Given the description of an element on the screen output the (x, y) to click on. 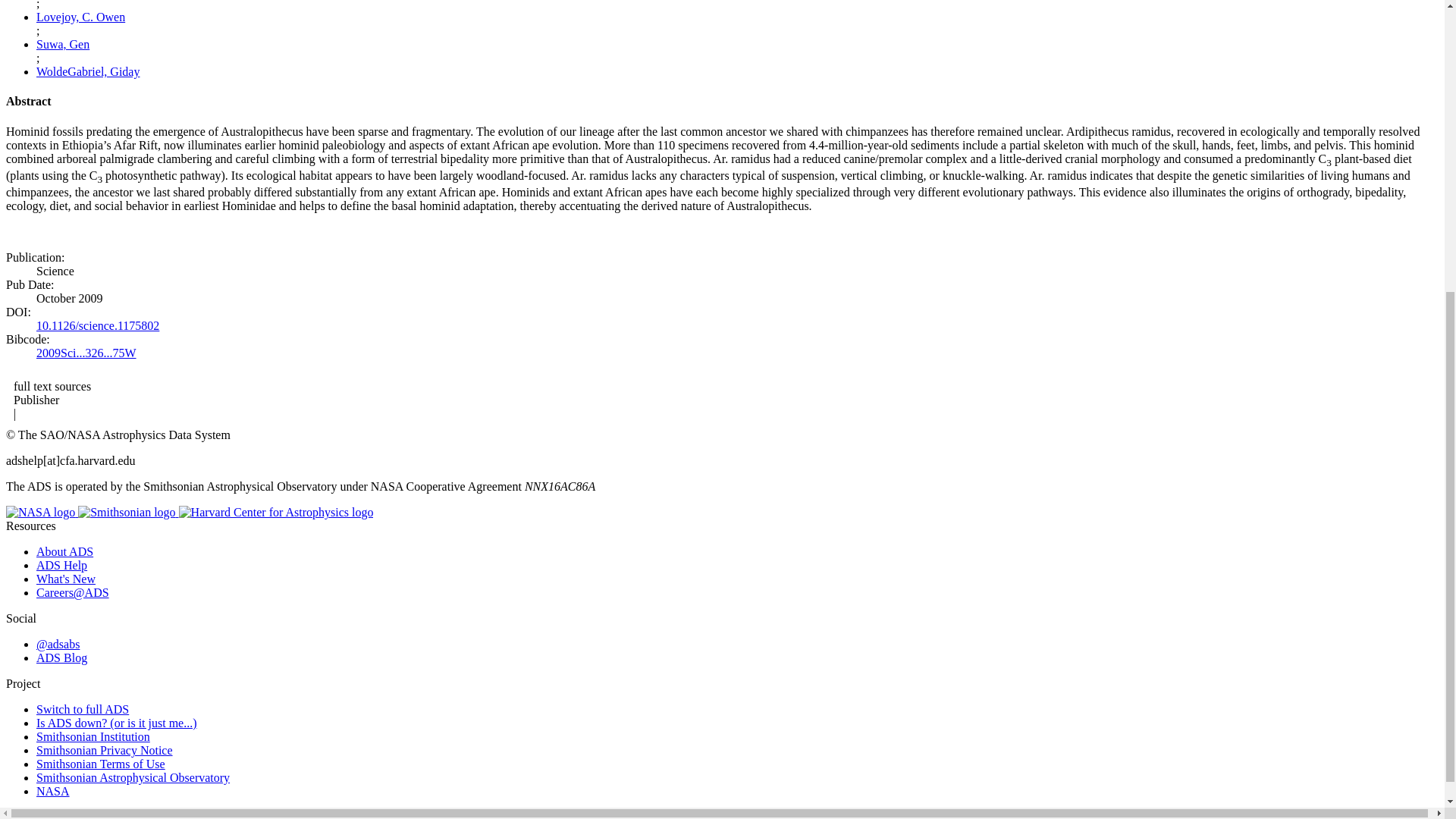
About ADS (64, 551)
What's New (66, 578)
Lovejoy, C. Owen (80, 16)
Suwa, Gen (62, 43)
WoldeGabriel, Giday (87, 71)
Harvard Center for Astrophysics logo (276, 512)
ADS Blog (61, 657)
2009Sci...326...75W (86, 352)
Smithsonian Astrophysical Observatory (133, 777)
Smithsonian Privacy Notice (104, 749)
